Given the description of an element on the screen output the (x, y) to click on. 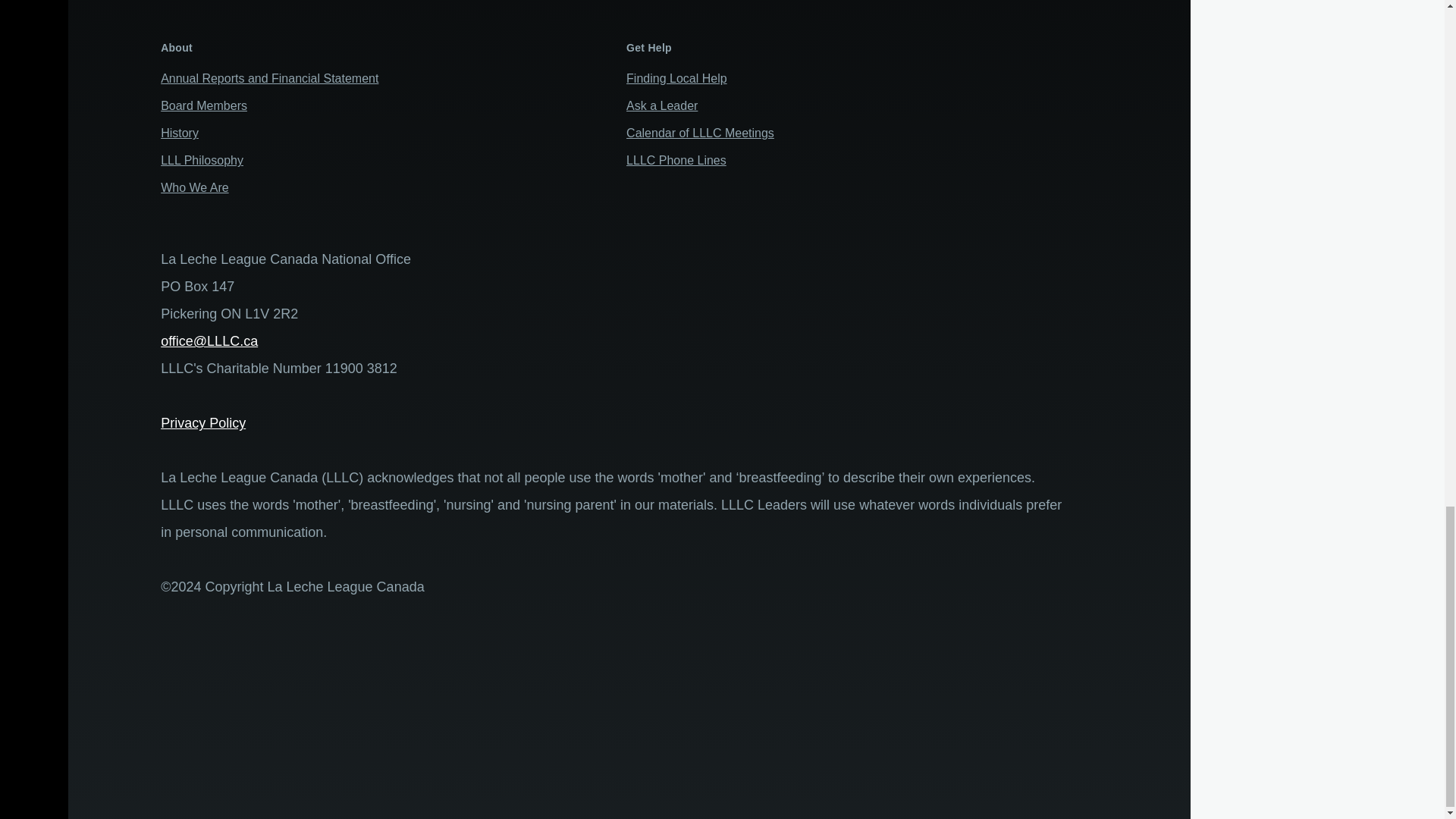
LLLC Phone Lines (676, 160)
Virtual Meetings Calendar (700, 132)
Who We Are (194, 187)
Philosophies (201, 160)
History (179, 132)
Board Members (203, 105)
Calendar of LLLC Meetings (700, 132)
Ask a Leader (661, 105)
History (179, 132)
LLLC Phone Lines (676, 160)
LLL Philosophy (201, 160)
Board Members (203, 105)
Ask a Leader (661, 105)
Finding Local Help (676, 78)
Annual Reports and Financial Statement (269, 78)
